Given the description of an element on the screen output the (x, y) to click on. 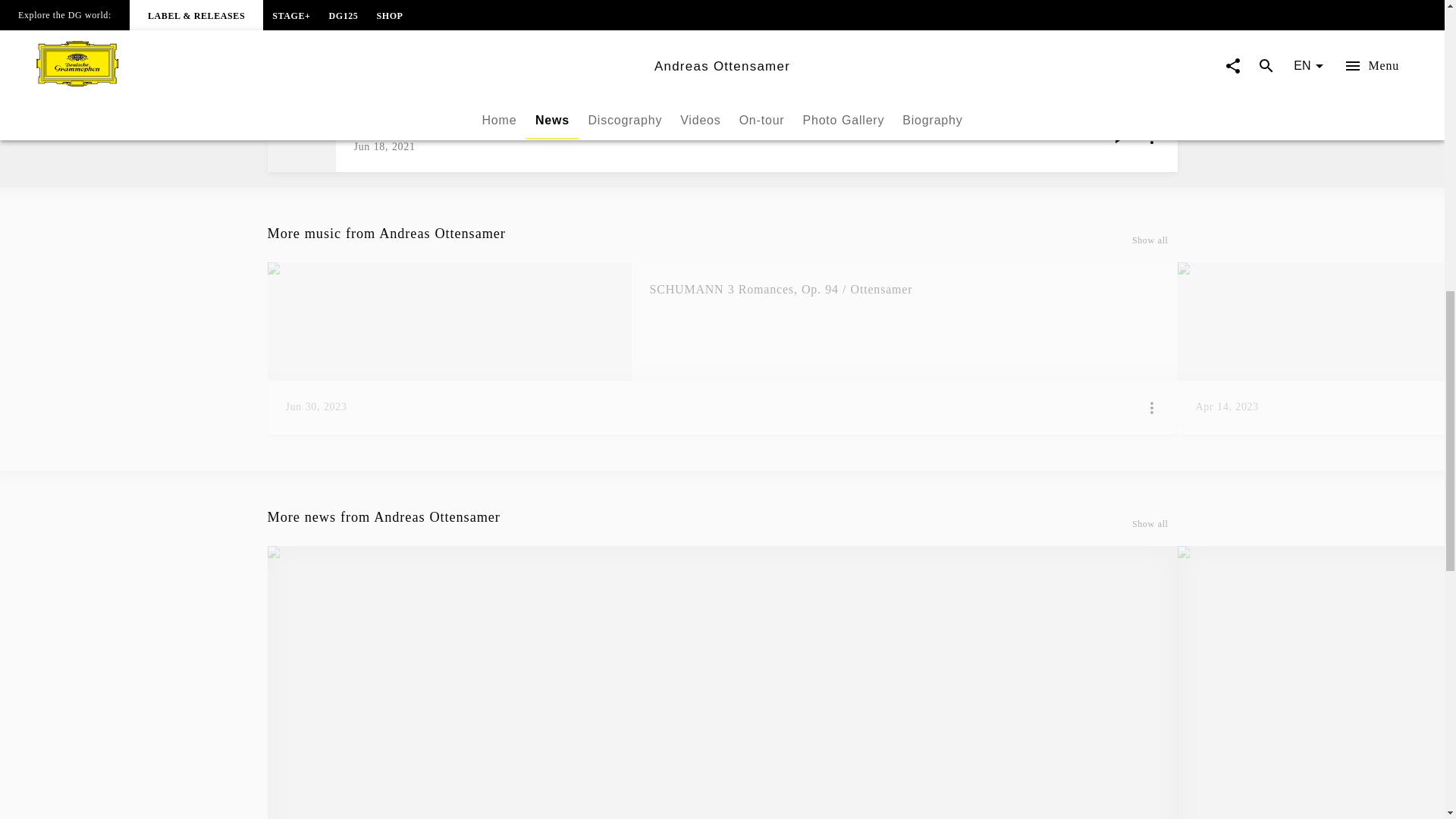
More music from Andreas Ottensamer (721, 242)
Show all (1150, 524)
Show all (1150, 240)
More news from Andreas Ottensamer (721, 526)
